Given the description of an element on the screen output the (x, y) to click on. 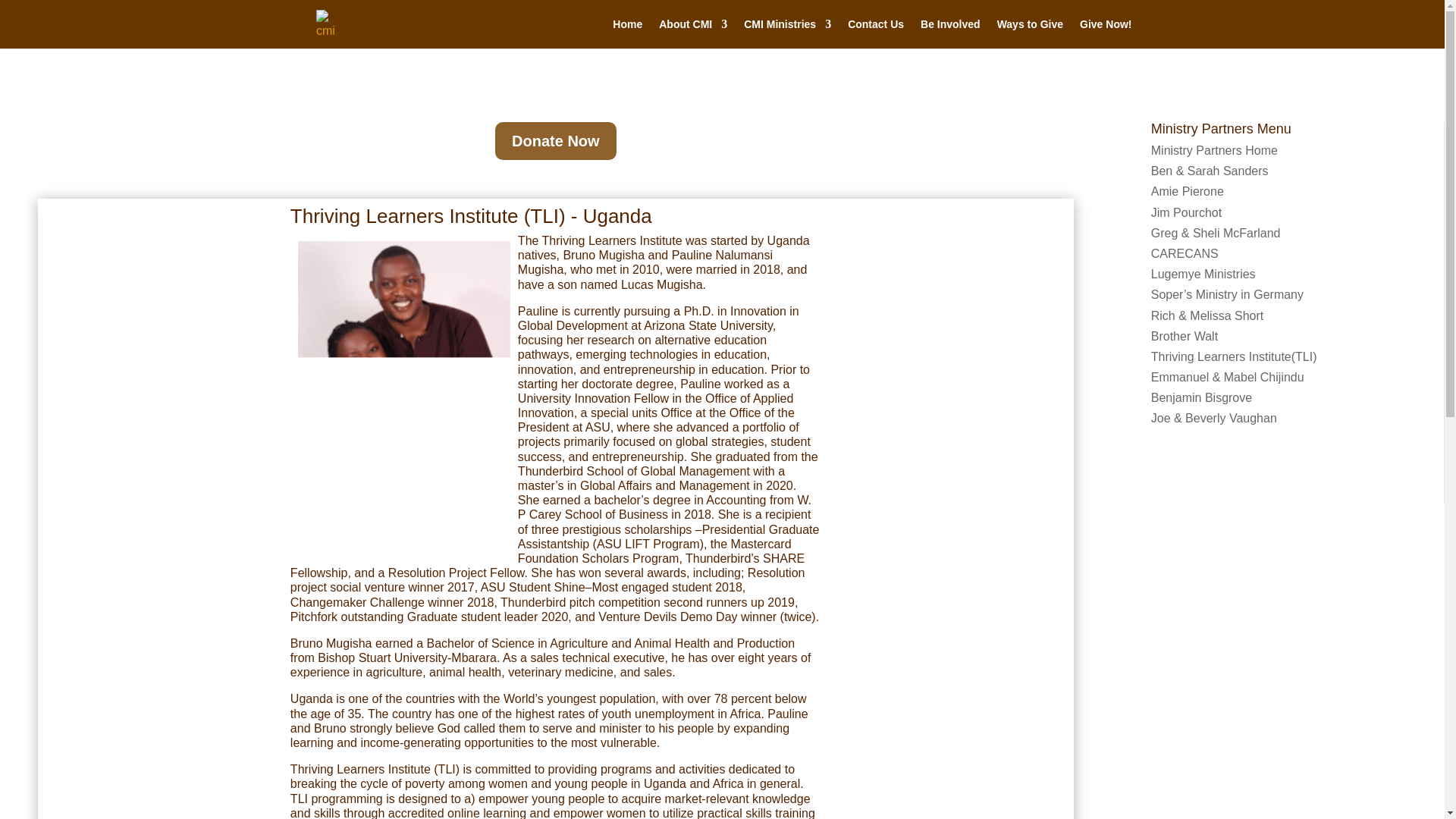
Give Now! (1105, 33)
CMI Ministries (787, 33)
Lugemye Ministries (1203, 273)
Ways to Give (1029, 33)
Home (627, 33)
Contact Us (875, 33)
Amie Pierone (1187, 191)
Donate Now (555, 140)
Ministry Partners Home (1214, 150)
About CMI (692, 33)
CARECANS (1184, 253)
Be Involved (949, 33)
Jim Pourchot (1186, 212)
